Given the description of an element on the screen output the (x, y) to click on. 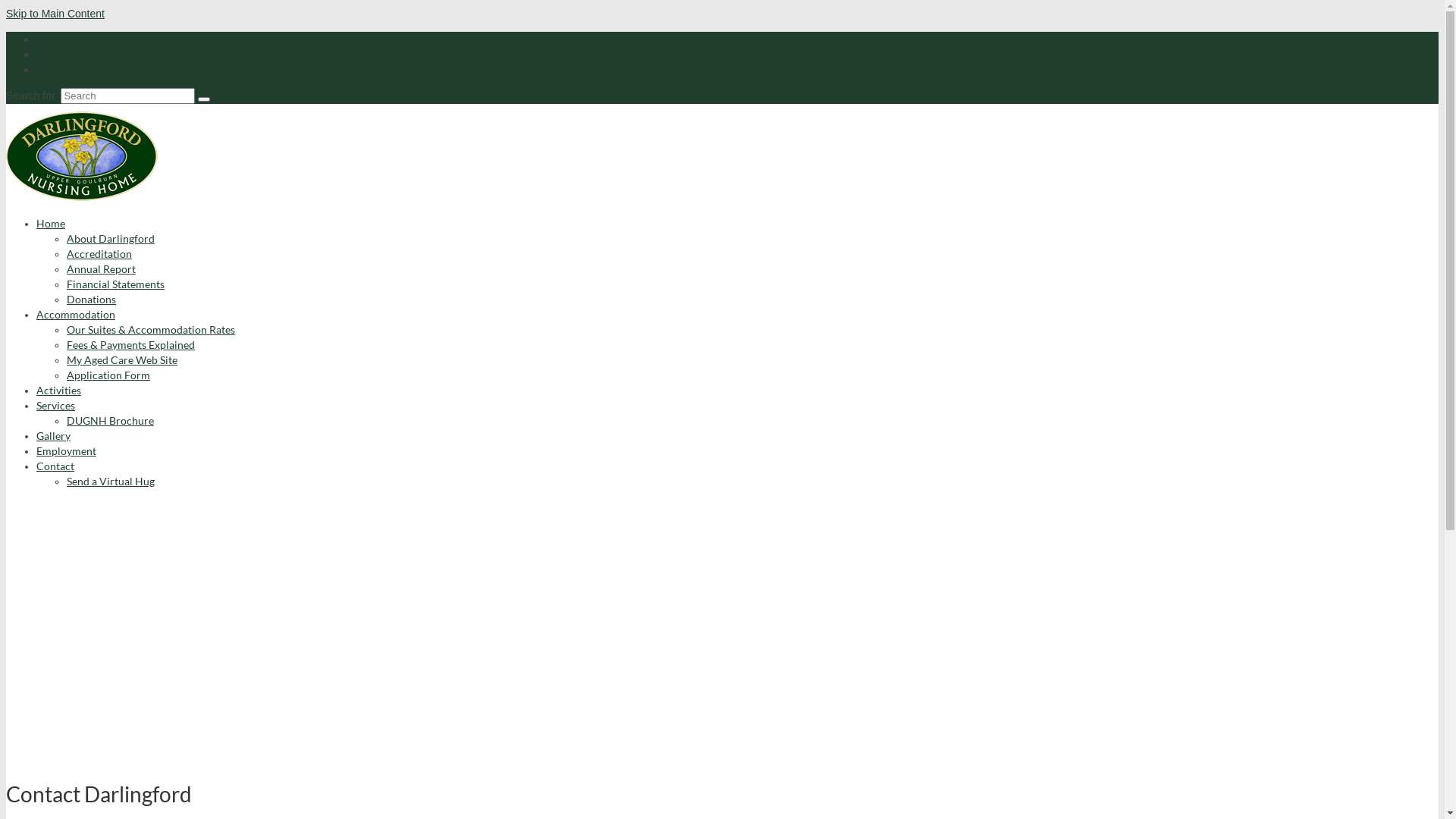
Send a Virtual Hug Element type: text (110, 480)
Annual Report Element type: text (100, 268)
About Darlingford Element type: text (110, 238)
Our Suites & Accommodation Rates Element type: text (150, 329)
Skip to Main Content Element type: text (55, 13)
Accommodation Element type: text (75, 313)
Financial Statements Element type: text (115, 283)
Application Form Element type: text (108, 374)
Activities Element type: text (58, 389)
My Aged Care Web Site Element type: text (121, 359)
Accreditation Element type: text (98, 253)
Home Element type: text (50, 222)
DUGNH Brochure Element type: text (109, 420)
Donations Element type: text (91, 298)
Gallery Element type: text (53, 435)
Employment Element type: text (66, 450)
Fees & Payments Explained Element type: text (130, 344)
Services Element type: text (55, 404)
Contact Element type: text (55, 465)
